Given the description of an element on the screen output the (x, y) to click on. 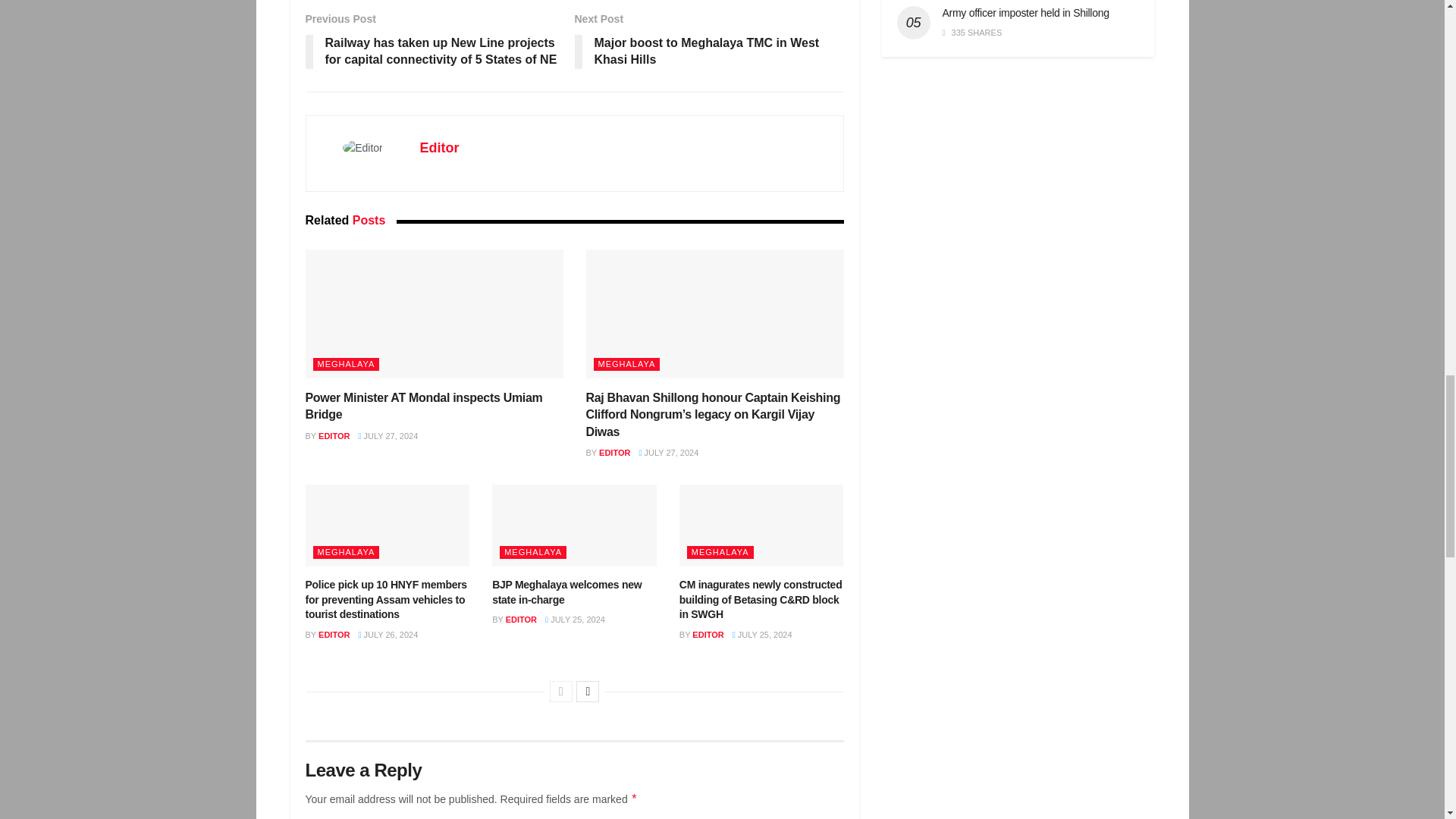
Previous (561, 690)
Next (587, 690)
